Given the description of an element on the screen output the (x, y) to click on. 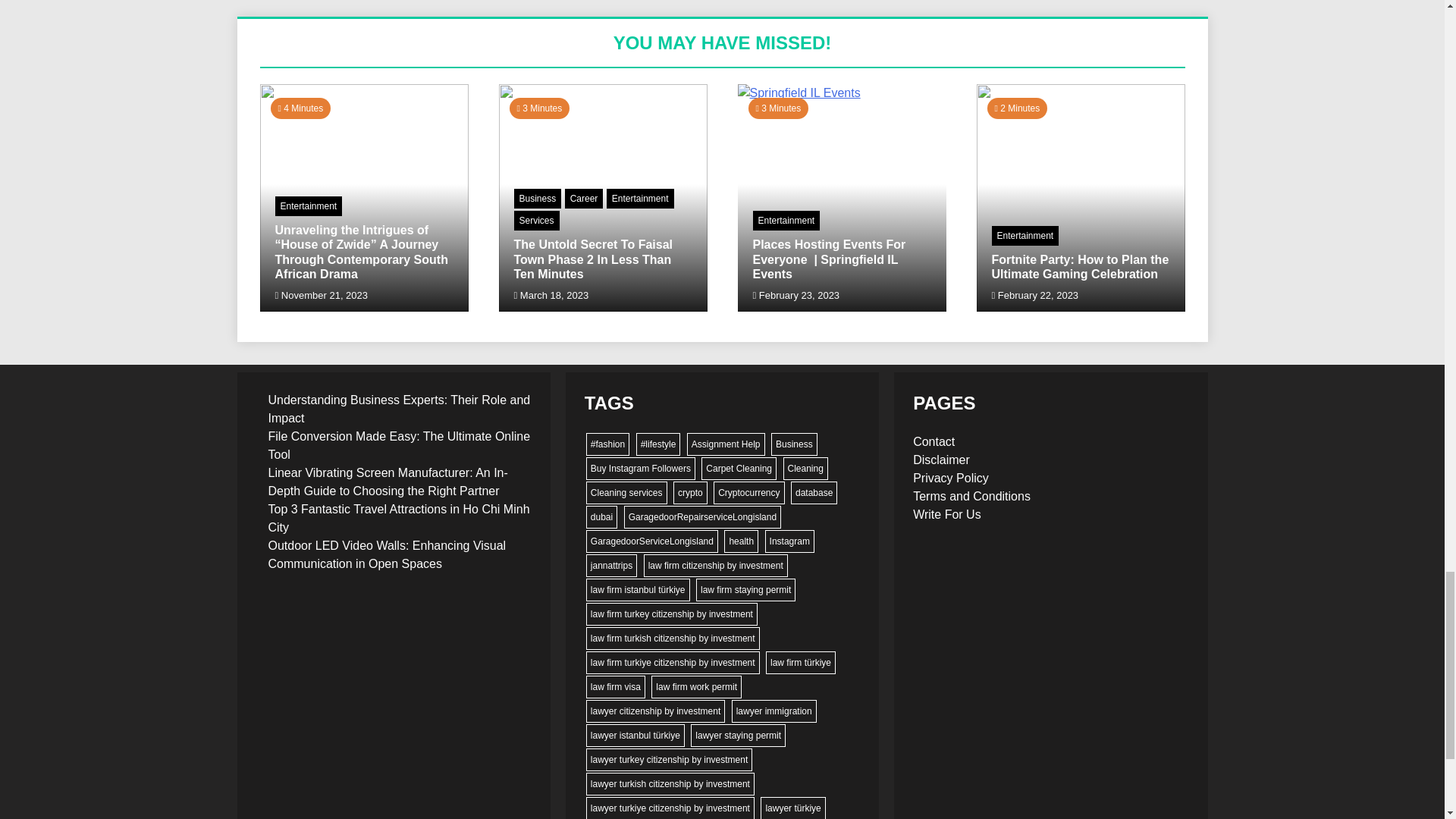
Estimated Reading Time of Article (778, 107)
Estimated Reading Time of Article (539, 107)
Estimated Reading Time of Article (299, 107)
Estimated Reading Time of Article (1017, 107)
